Given the description of an element on the screen output the (x, y) to click on. 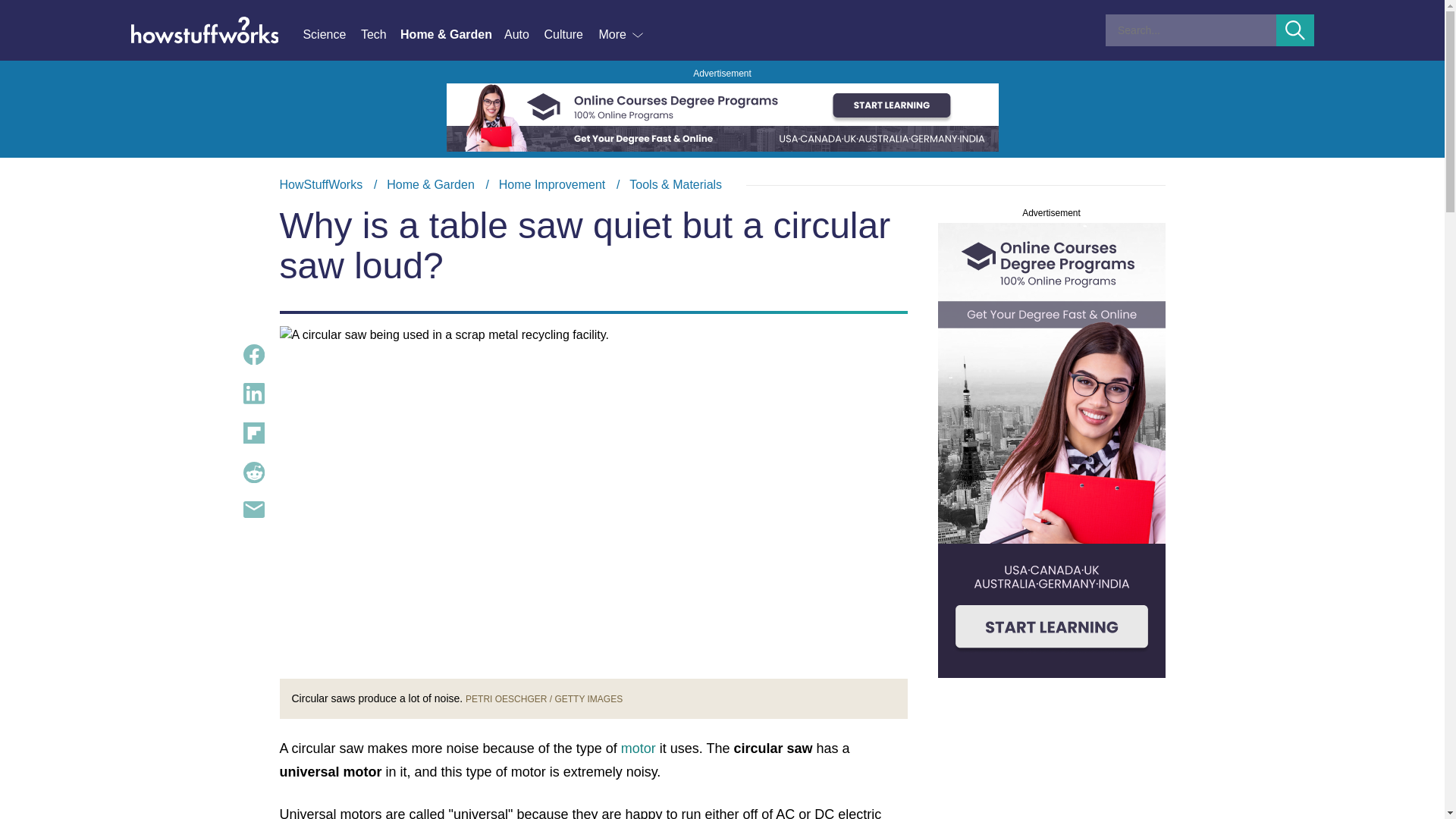
Home Improvement (552, 184)
Share Content on Reddit (253, 472)
Auto (523, 34)
Science (330, 34)
Share Content via Email (253, 509)
Culture (570, 34)
HowStuffWorks (320, 184)
Tech (380, 34)
Submit Search (1295, 29)
More (621, 34)
